Given the description of an element on the screen output the (x, y) to click on. 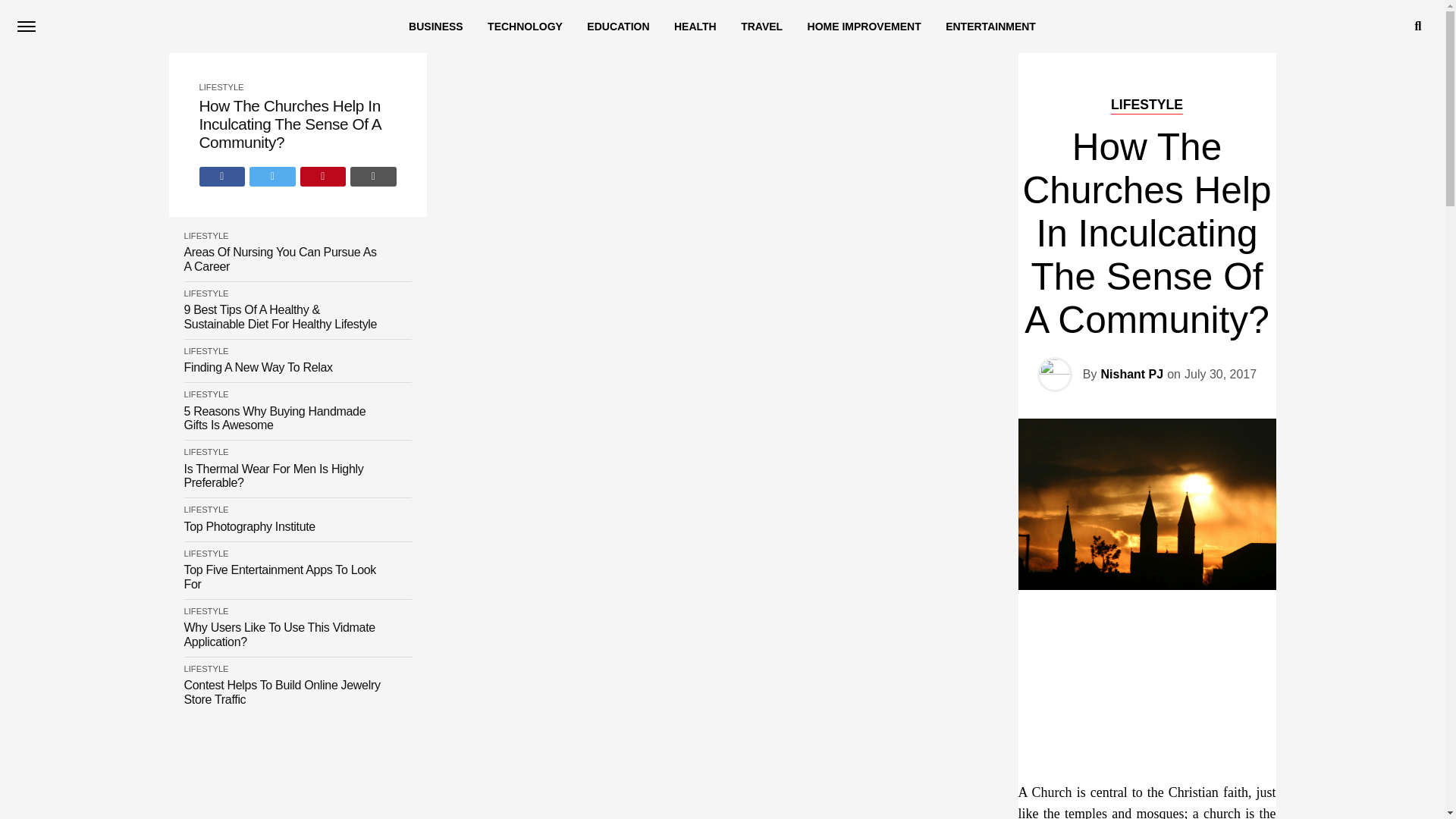
TECHNOLOGY (525, 26)
LIFESTYLE (205, 293)
TRAVEL (761, 26)
Areas Of Nursing You Can Pursue As A Career (281, 259)
LIFESTYLE (220, 86)
Finding A New Way To Relax (257, 367)
5 Reasons Why Buying Handmade Gifts Is Awesome (281, 418)
LIFESTYLE (205, 393)
Share on Facebook (221, 176)
